Given the description of an element on the screen output the (x, y) to click on. 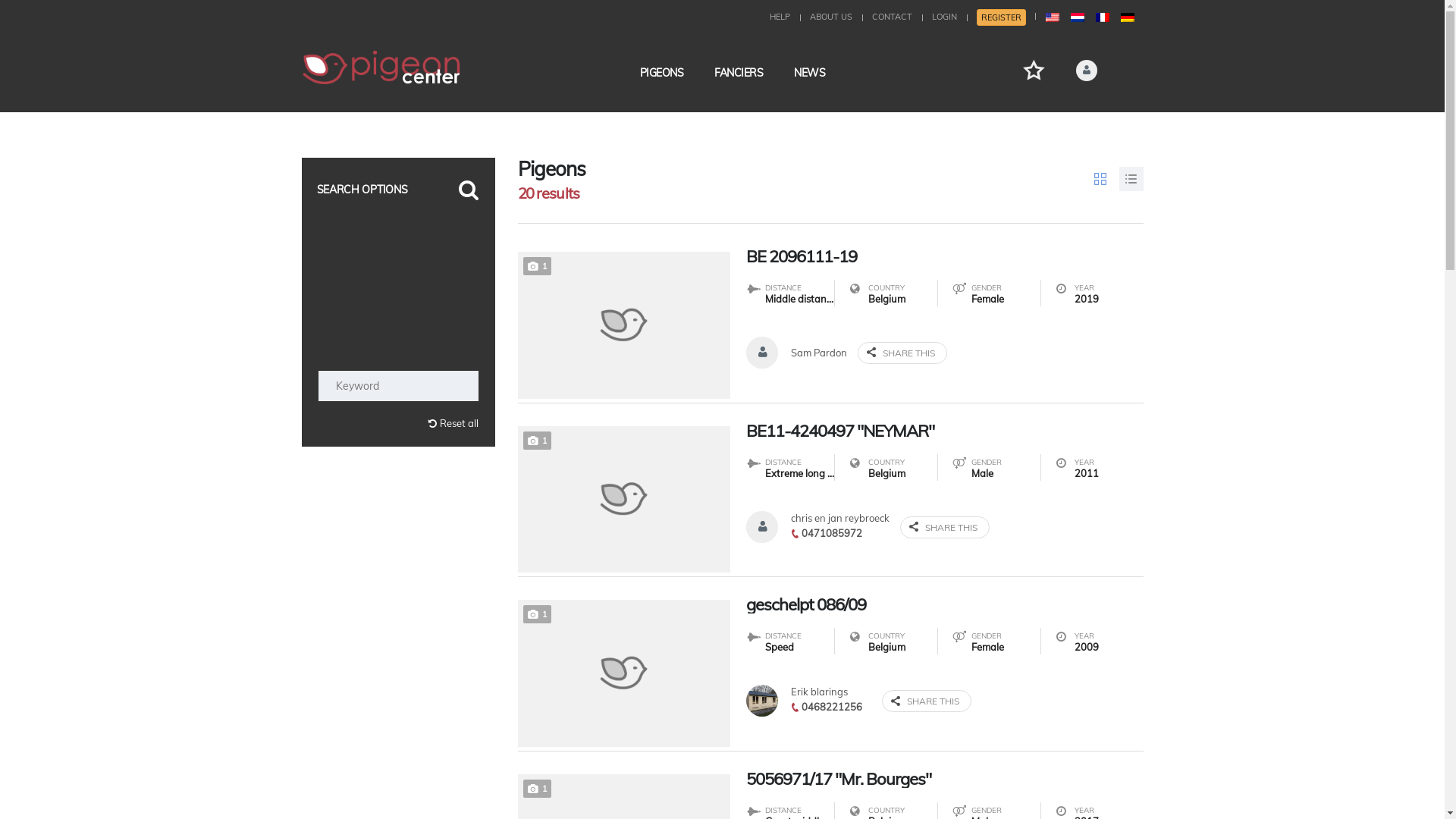
PIGEONS Element type: text (662, 72)
BE 2096111-19 Element type: text (944, 256)
SHARE THIS Element type: text (943, 527)
Login Element type: text (1037, 280)
CONTACT Element type: text (892, 16)
SHARE THIS Element type: text (925, 701)
SHARE THIS Element type: text (901, 352)
geschelpt 086/09 Element type: text (944, 604)
BE11-4240497 "NEYMAR" Element type: text (944, 430)
Watch compared Element type: hover (1033, 69)
Home Element type: hover (381, 67)
Erik blarings Element type: text (818, 691)
Sam Pardon Element type: text (818, 352)
NEWS Element type: text (809, 72)
ABOUT US Element type: text (830, 16)
LOGIN Element type: text (943, 16)
FANCIERS Element type: text (738, 72)
5056971/17 "Mr. Bourges" Element type: text (944, 778)
chris en jan reybroeck Element type: text (839, 517)
Reset all Element type: text (398, 422)
REGISTER Element type: text (1001, 17)
HELP Element type: text (778, 16)
